Given the description of an element on the screen output the (x, y) to click on. 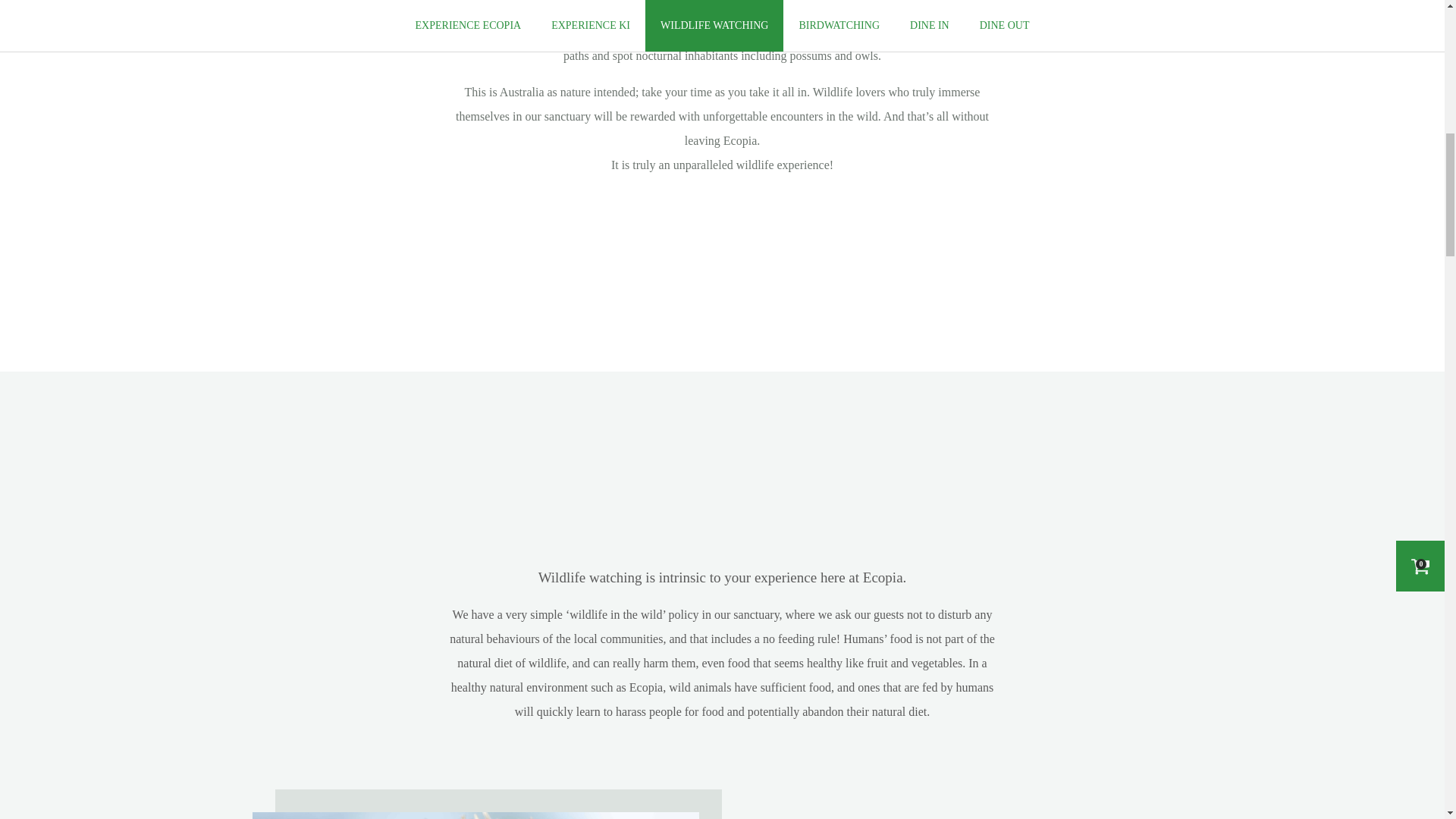
Ecopia Retreat (857, 31)
